Given the description of an element on the screen output the (x, y) to click on. 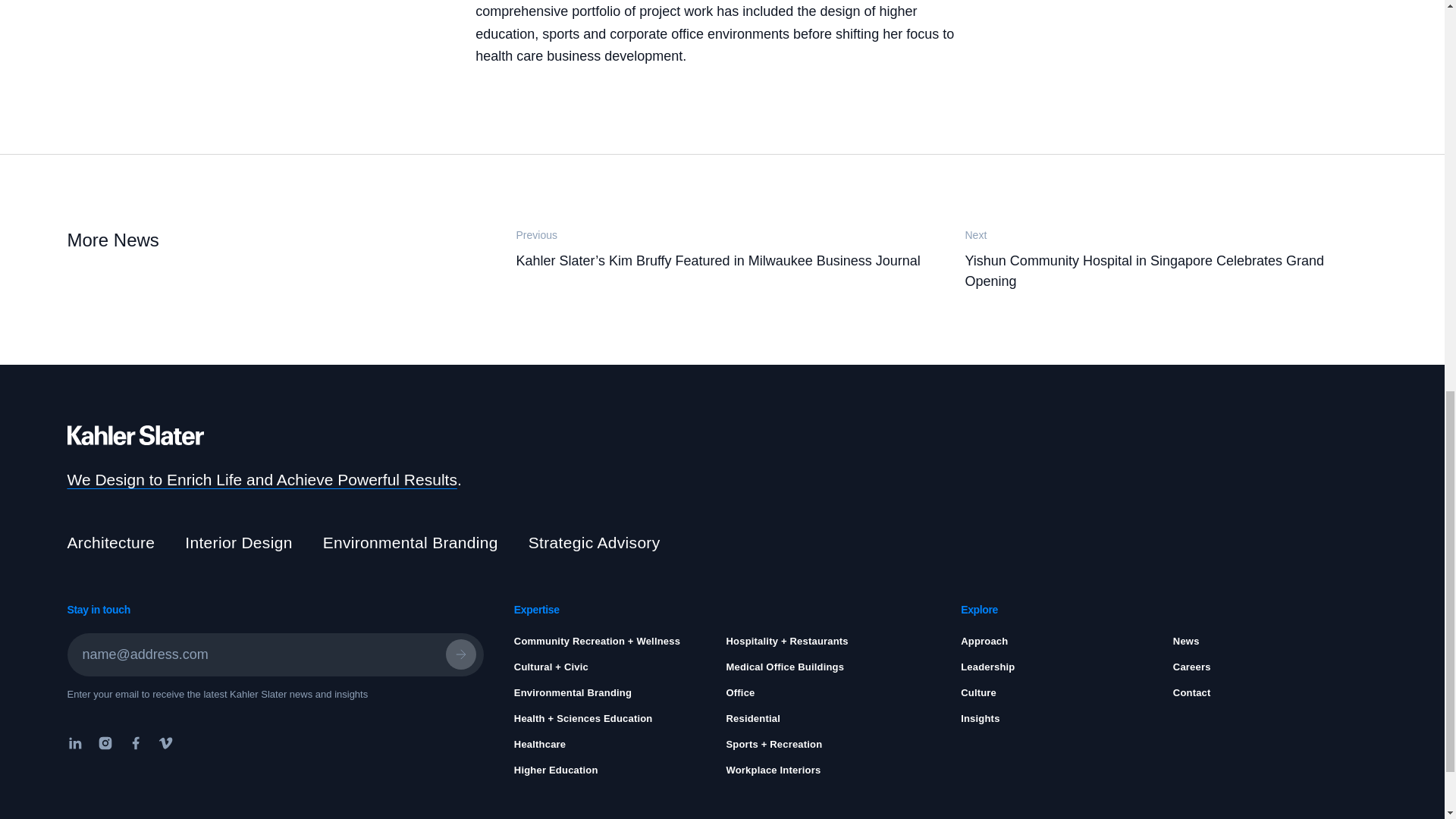
Environmental Branding (572, 692)
Higher Education (555, 769)
Instagram (103, 742)
LinkedIn (77, 742)
Subscribe (460, 654)
Vimeo (164, 742)
We Design to Enrich Life and Achieve Powerful Results (261, 479)
Facebook (134, 742)
Healthcare (539, 744)
